Given the description of an element on the screen output the (x, y) to click on. 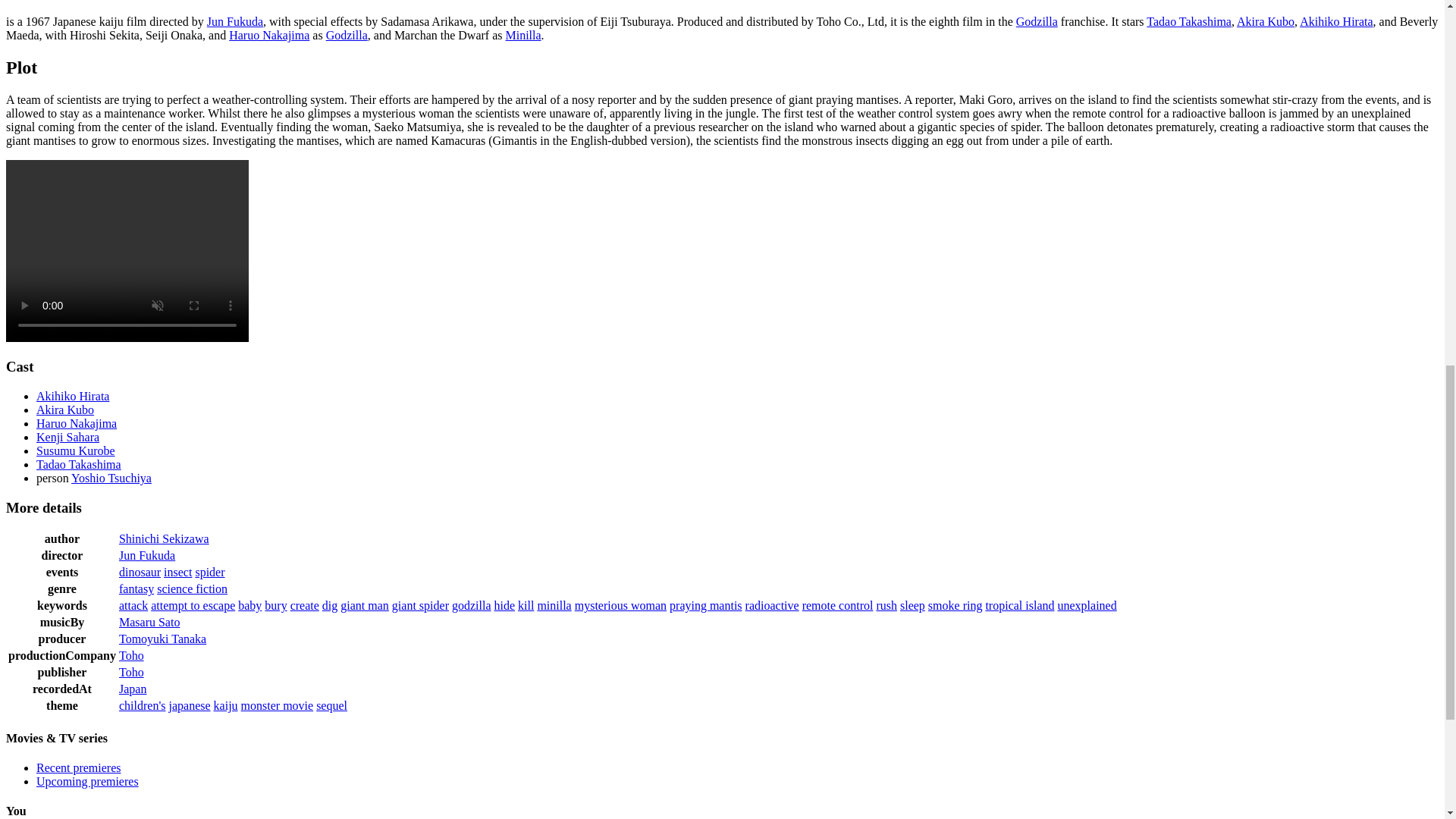
dinosaur (139, 571)
Haruo Nakajima (76, 422)
Haruo Nakajima (268, 34)
Tadao Takashima (1189, 21)
science fiction (192, 588)
Jun Fukuda (146, 554)
Akihiko Hirata (1336, 21)
Akira Kubo (1265, 21)
Akira Kubo (65, 409)
Shinichi Sekizawa (164, 538)
Yoshio Tsuchiya (111, 477)
Godzilla (1037, 21)
spider (209, 571)
Susumu Kurobe (75, 450)
insect (177, 571)
